Given the description of an element on the screen output the (x, y) to click on. 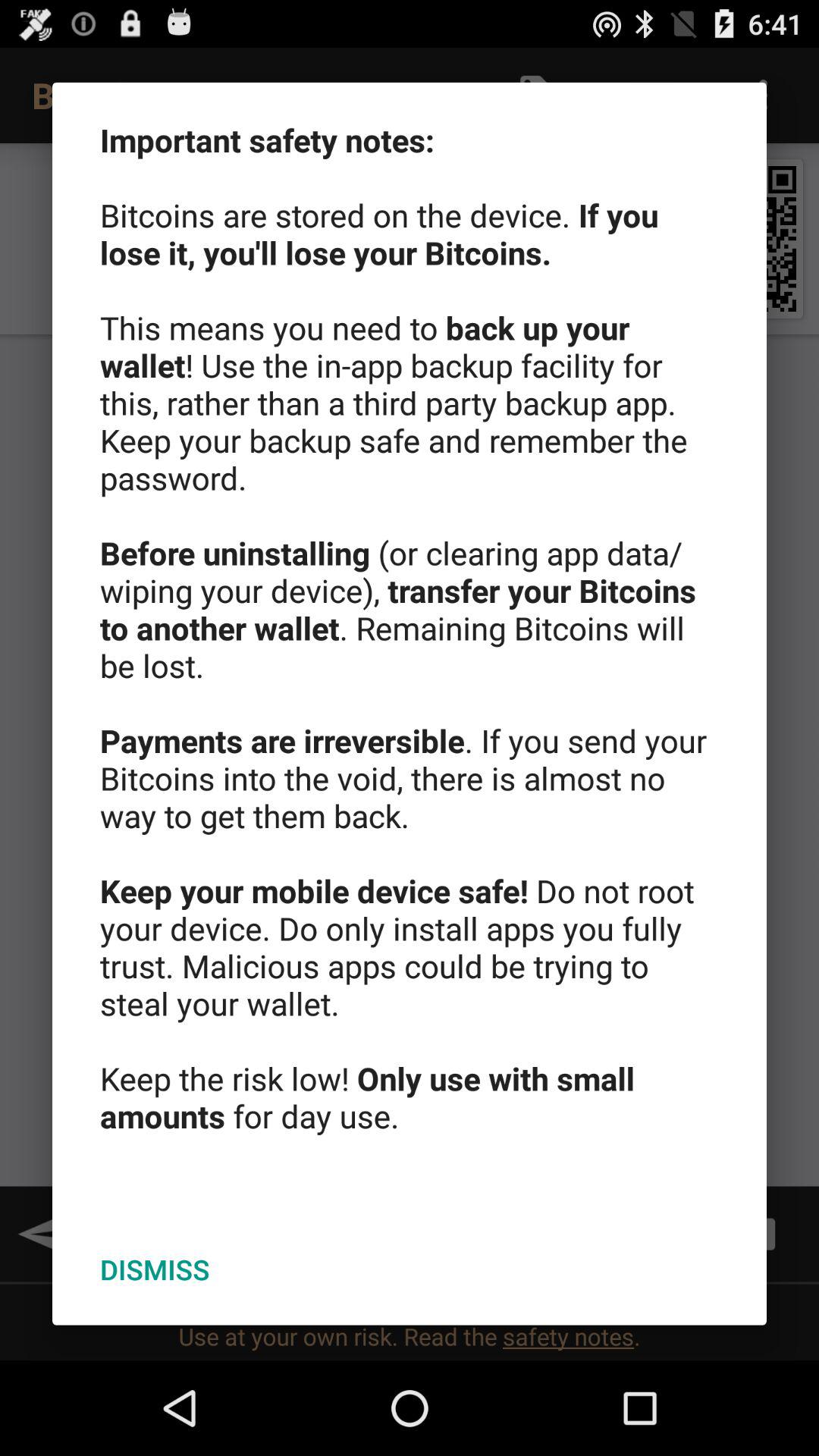
click the icon below important safety notes app (154, 1269)
